Given the description of an element on the screen output the (x, y) to click on. 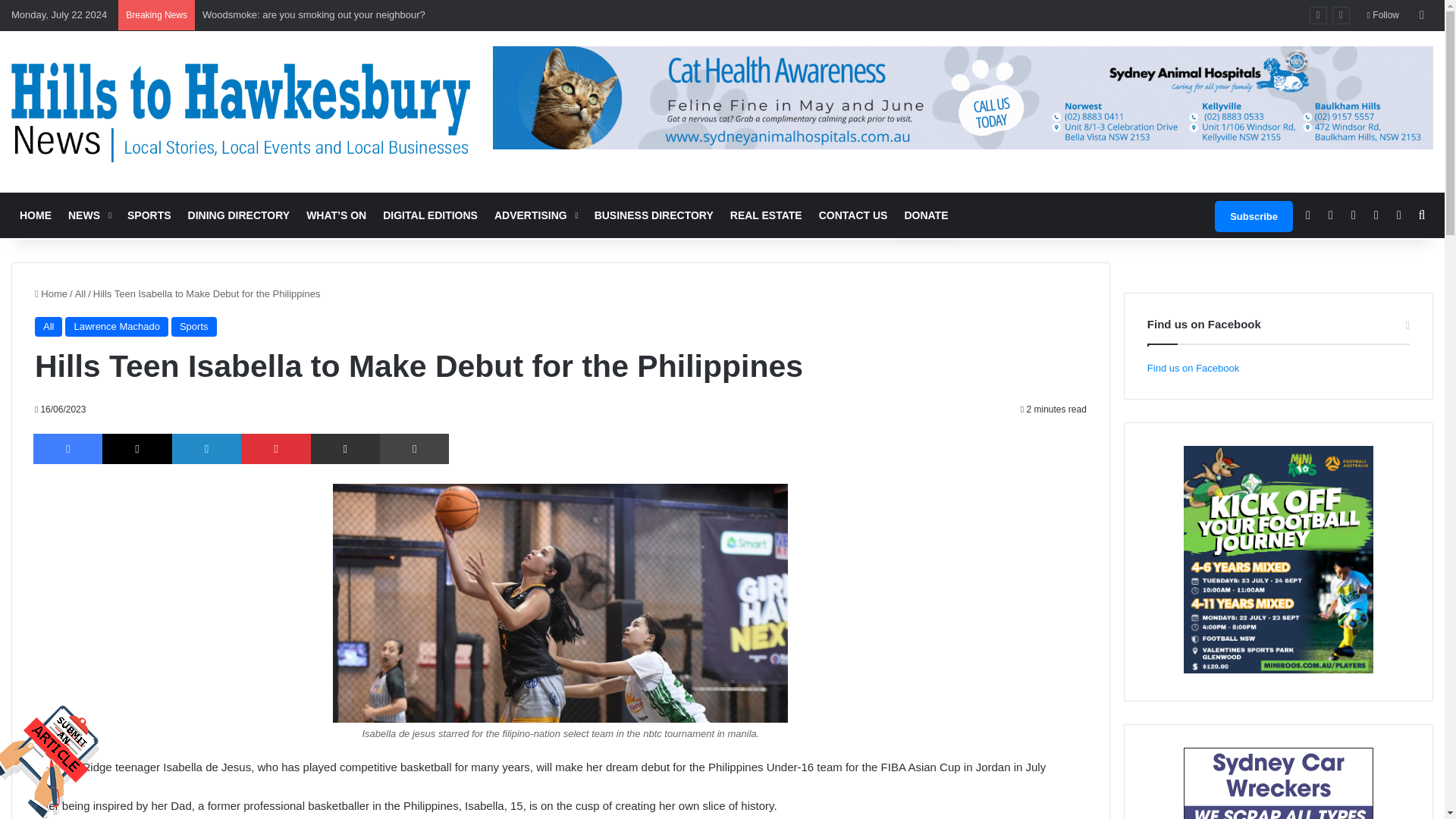
X (136, 449)
Pinterest (275, 449)
REAL ESTATE (766, 215)
Hills to Hawkesbury News (240, 111)
Sydney Animal Hospital HH May (962, 97)
Subscribe (1253, 215)
ADVERTISING (536, 215)
BUSINESS DIRECTORY (654, 215)
DONATE (925, 215)
DINING DIRECTORY (238, 215)
CONTACT US (853, 215)
NEWS (89, 215)
LinkedIn (206, 449)
DIGITAL EDITIONS (430, 215)
Follow (1382, 15)
